Given the description of an element on the screen output the (x, y) to click on. 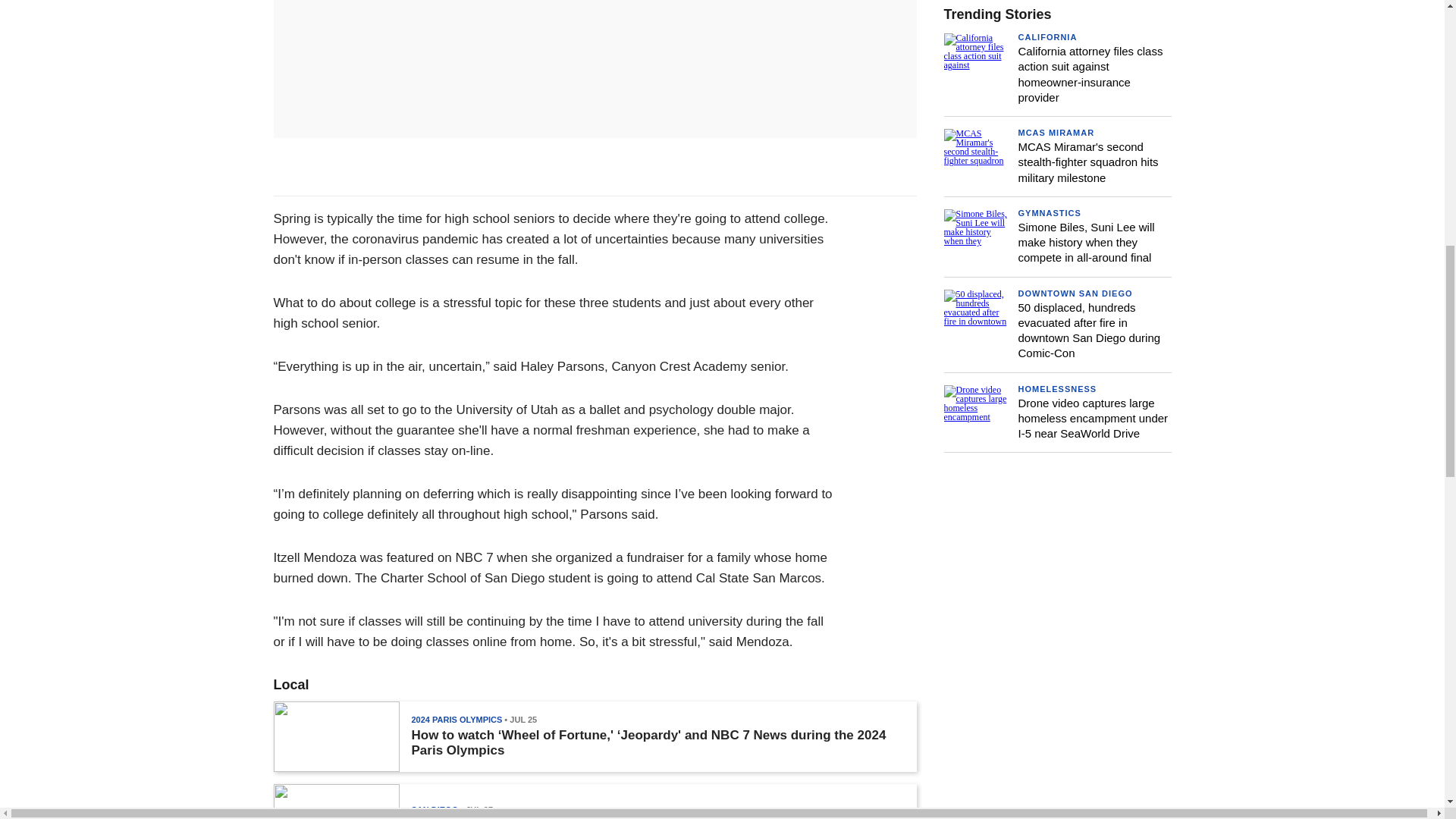
SAN DIEGO (434, 809)
2024 PARIS OLYMPICS (456, 718)
